Given the description of an element on the screen output the (x, y) to click on. 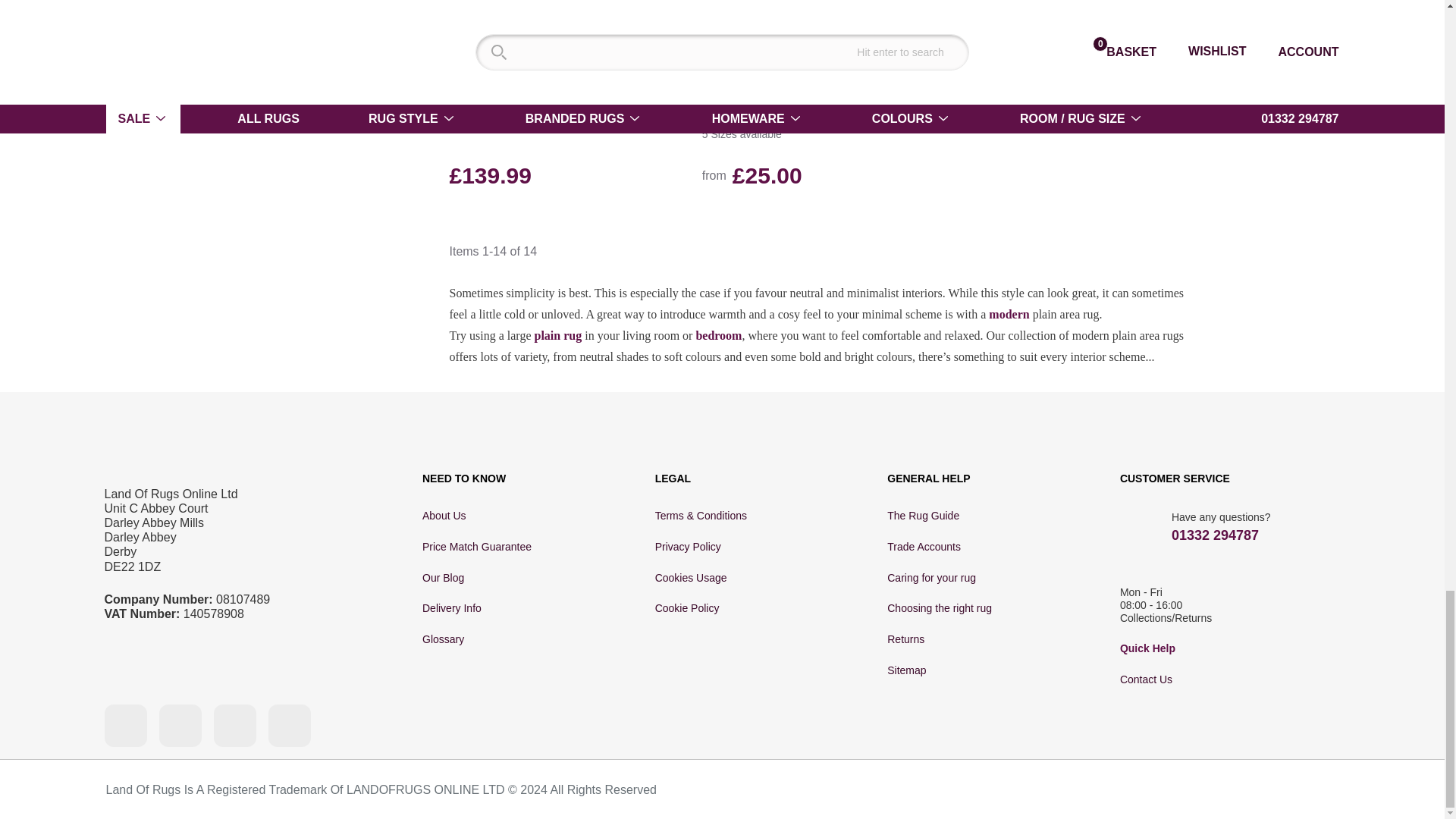
Google Pay (1184, 790)
Visa (948, 790)
Klarna (1281, 790)
American Express (988, 790)
Apple Pay (1233, 790)
PayPal (1128, 788)
MasterCard (1016, 790)
Amazon Pay (1065, 787)
